Given the description of an element on the screen output the (x, y) to click on. 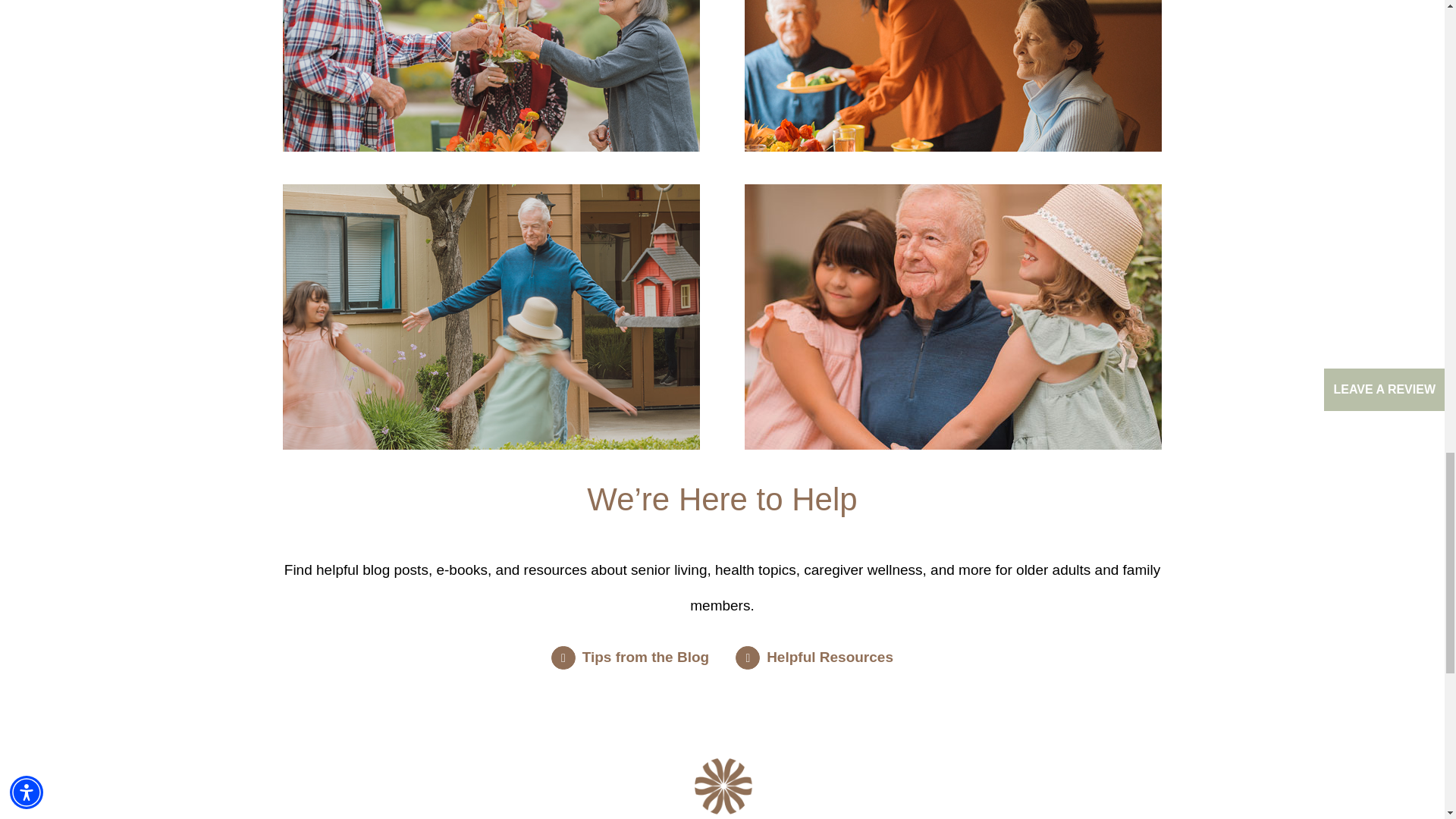
amenities-youll-love (491, 75)
summerfield-of-redlands (722, 788)
amenities-youll-love-4 (952, 316)
amenities-youll-love-3 (491, 316)
amenities-youll-love-2 (952, 75)
